Given the description of an element on the screen output the (x, y) to click on. 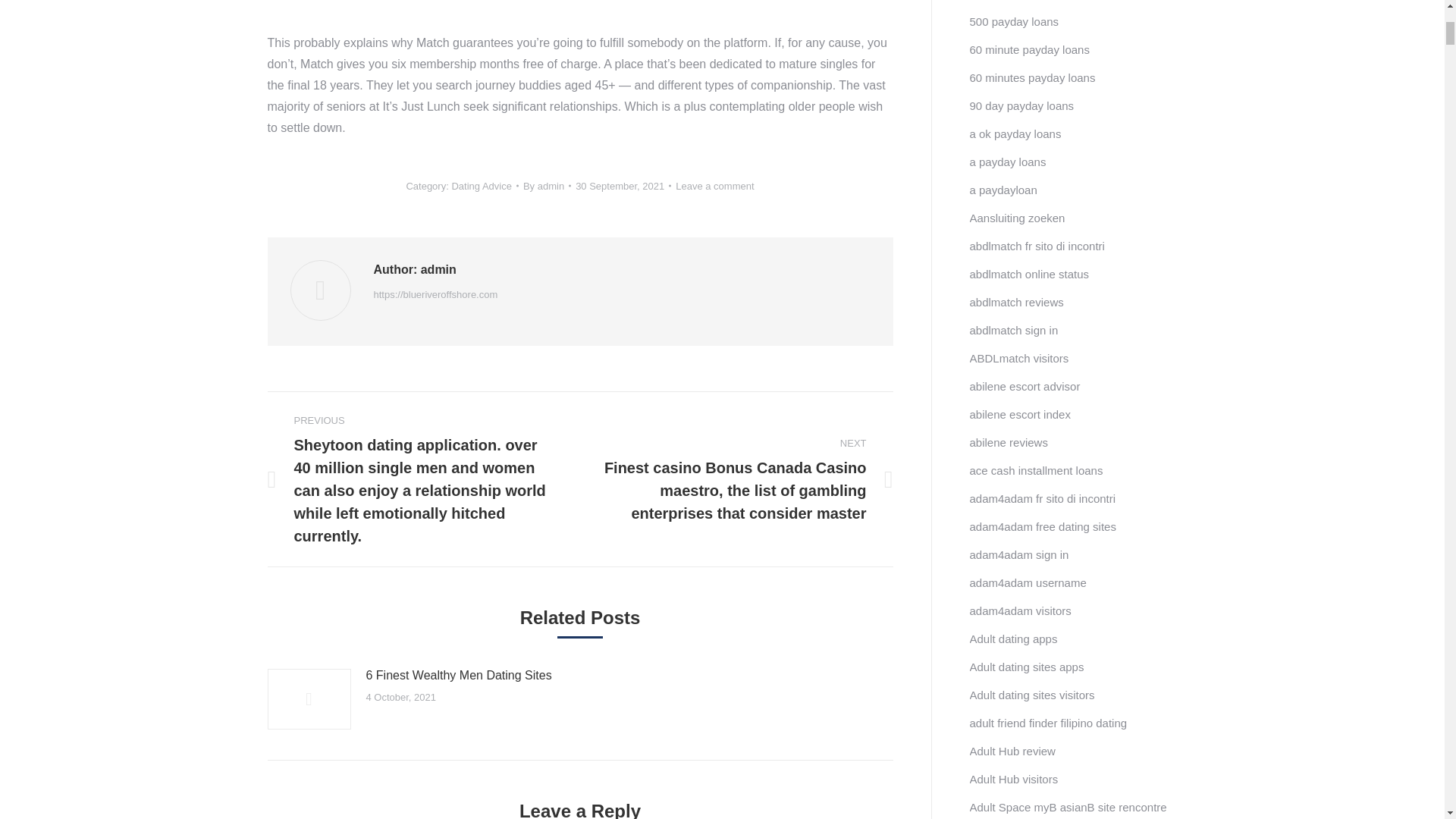
Dating Advice (481, 185)
30 September, 2021 (623, 185)
View all posts by admin (546, 185)
6 Finest Wealthy Men Dating Sites (458, 675)
12:13 pm (623, 185)
Leave a comment (714, 185)
By admin (546, 185)
